Given the description of an element on the screen output the (x, y) to click on. 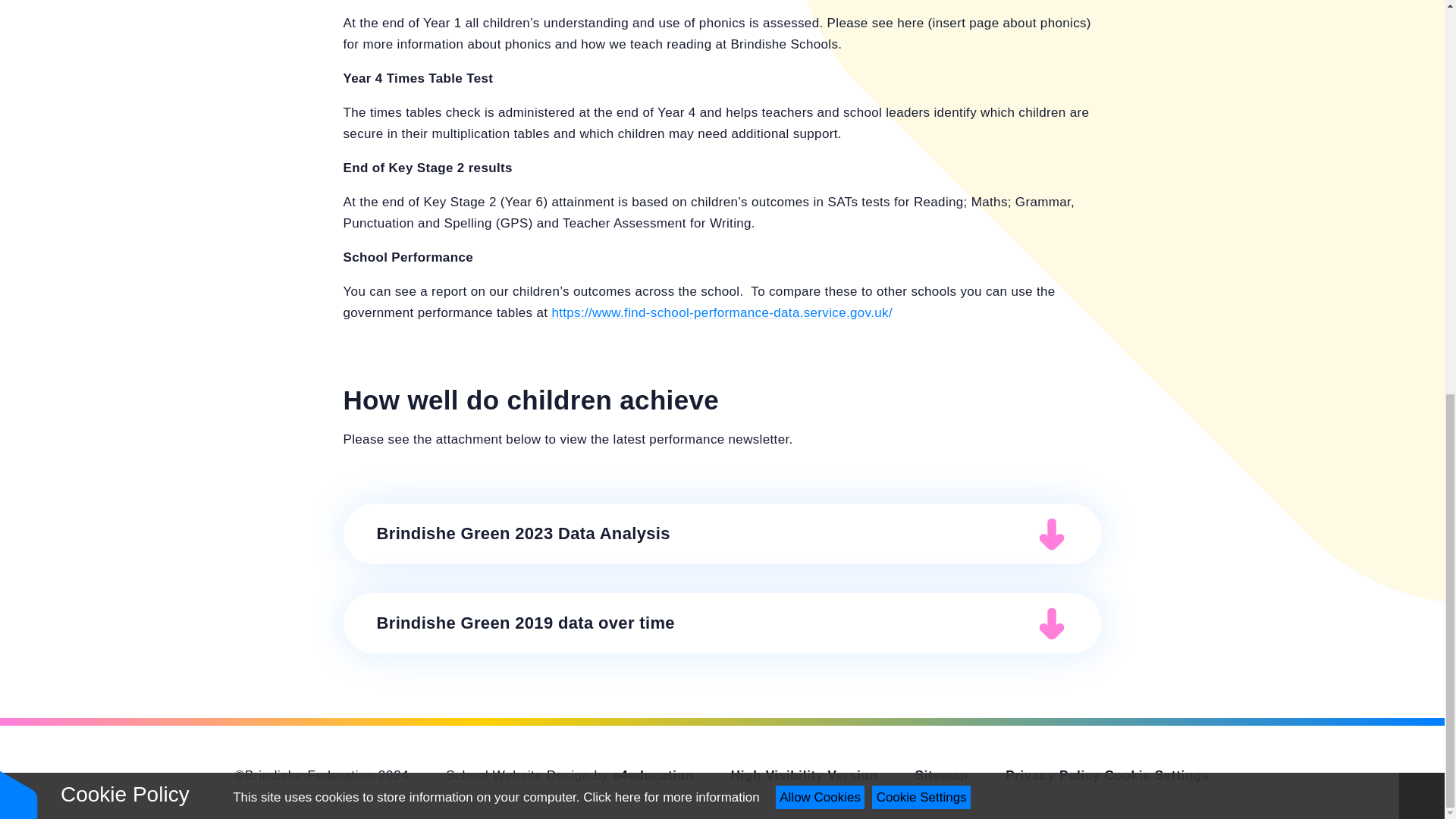
Cookie Settings (921, 37)
See cookie policy (670, 38)
Cookie Settings (1157, 775)
Allow Cookies (820, 37)
